Given the description of an element on the screen output the (x, y) to click on. 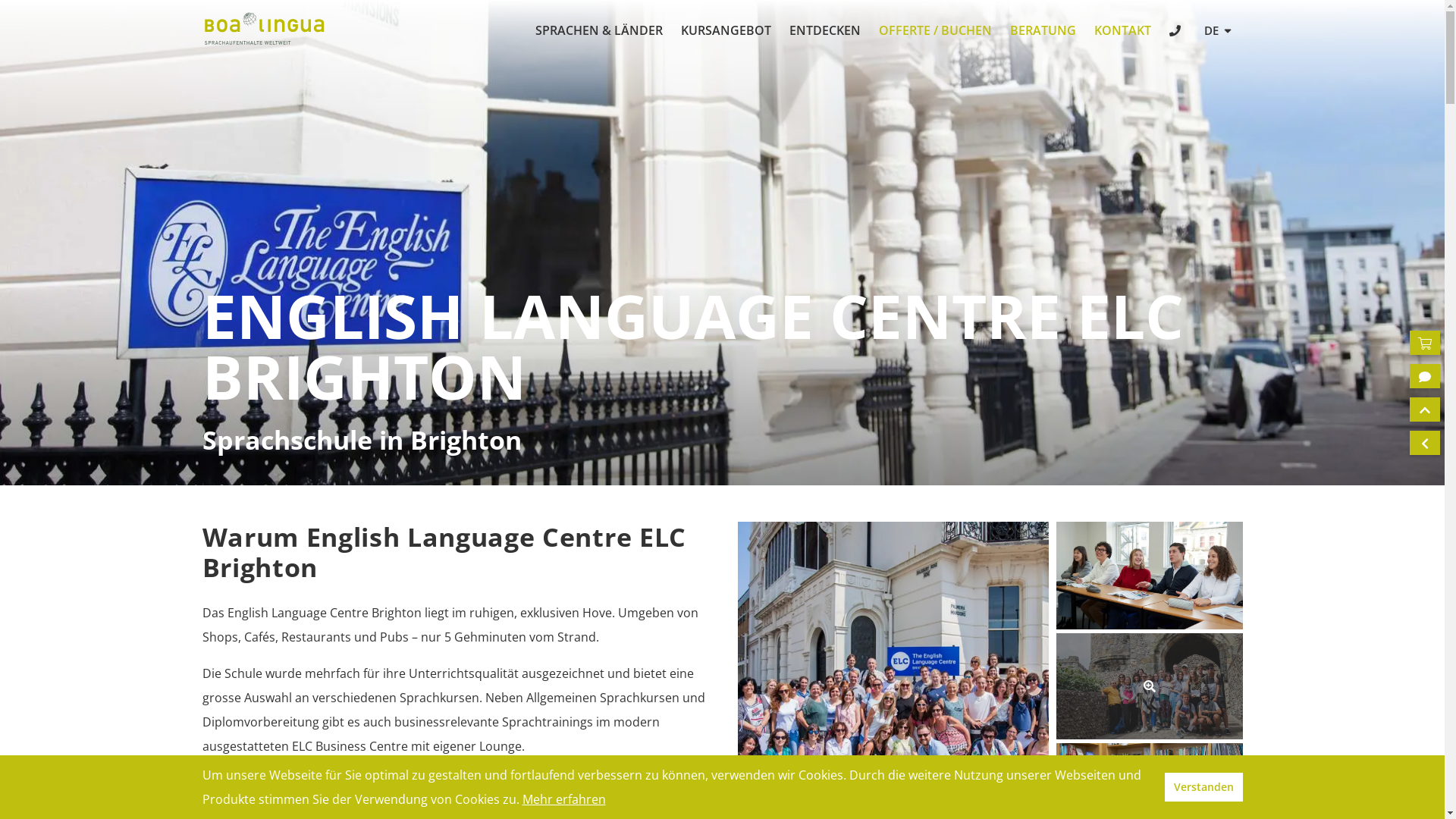
BERATUNG Element type: text (1043, 30)
KONTAKT Element type: text (1122, 30)
OFFERTE / BUCHEN Element type: text (934, 30)
Verstanden Element type: text (1203, 786)
Mehr erfahren Element type: text (563, 798)
